Given the description of an element on the screen output the (x, y) to click on. 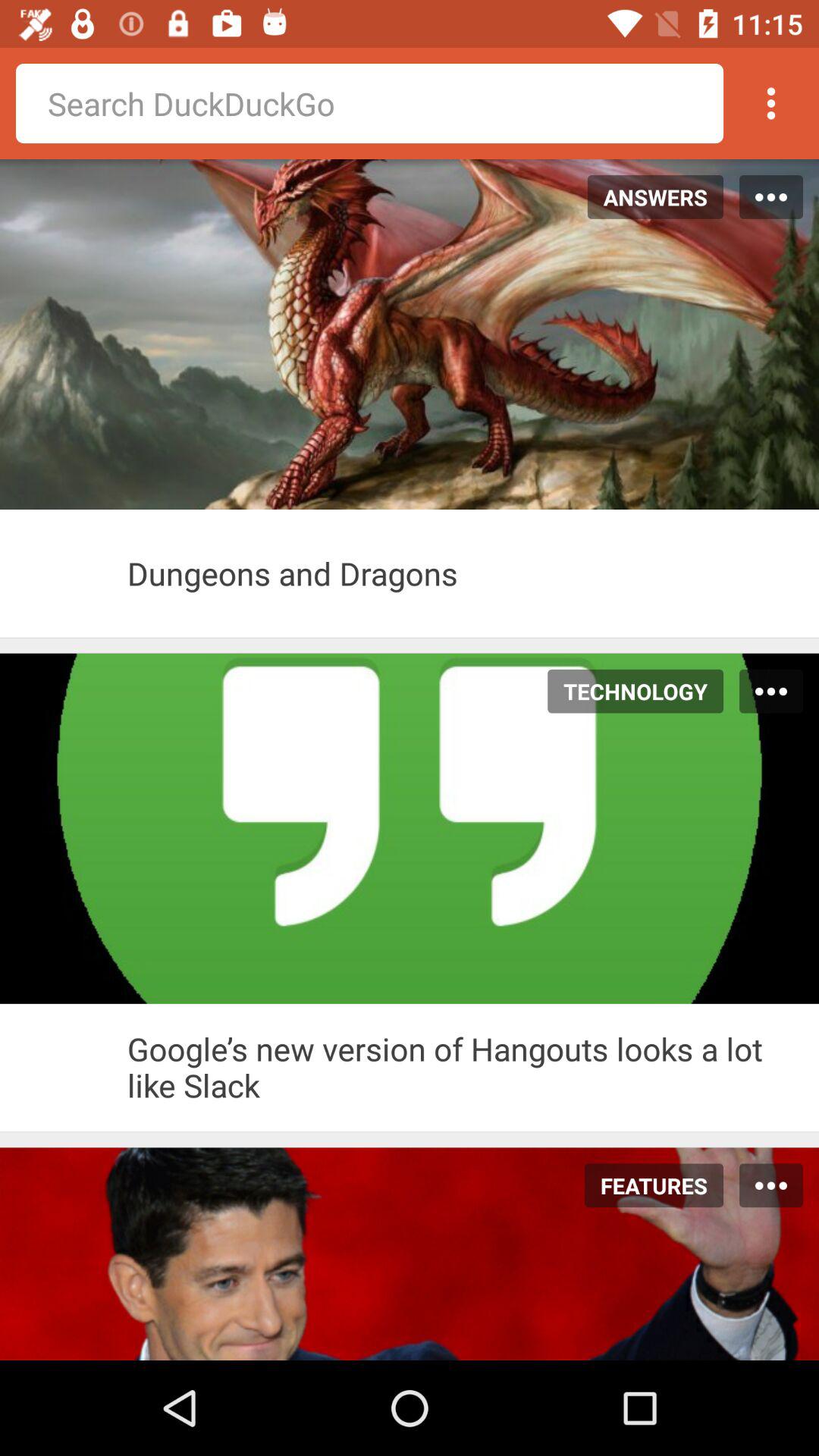
identification this vidio (63, 1067)
